Given the description of an element on the screen output the (x, y) to click on. 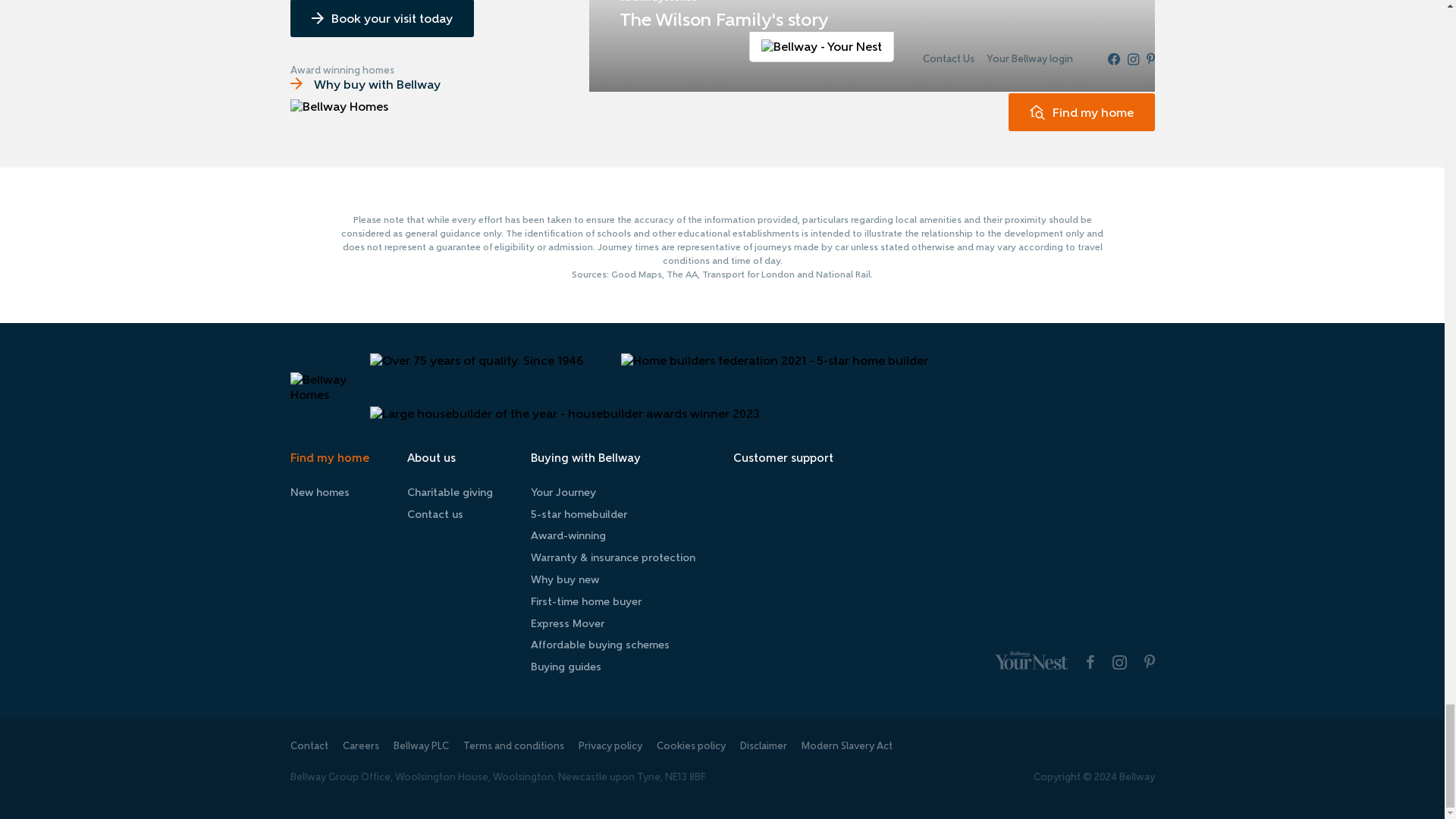
Bellway Homes (329, 386)
Home builders federation 2021 - 5-star home builder (774, 359)
Family around dining table (871, 45)
Over 75 years of quality. Since 1946 (476, 359)
